Given the description of an element on the screen output the (x, y) to click on. 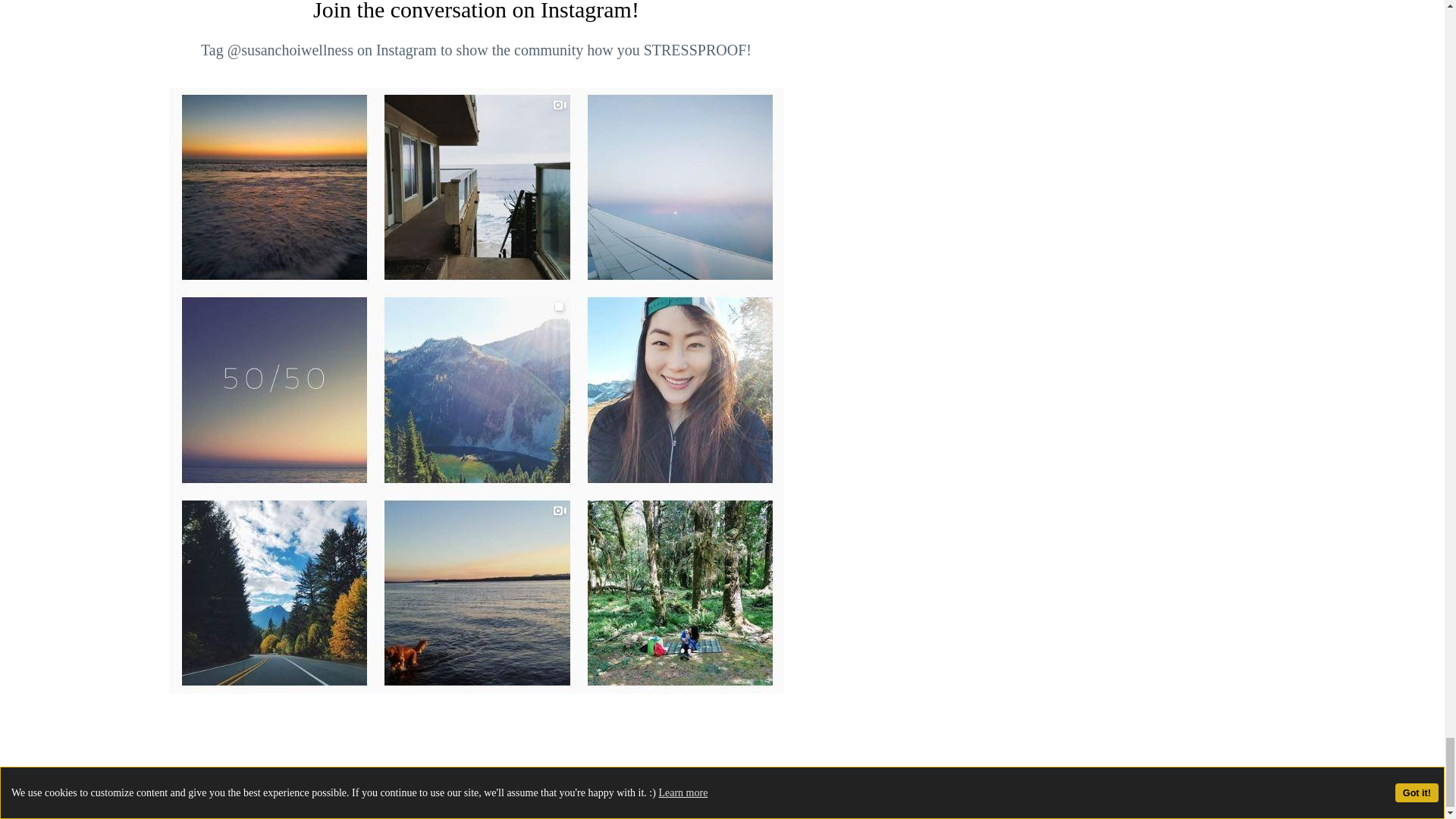
Powered by Kajabi (876, 763)
Terms (745, 763)
Privacy (796, 763)
